Given the description of an element on the screen output the (x, y) to click on. 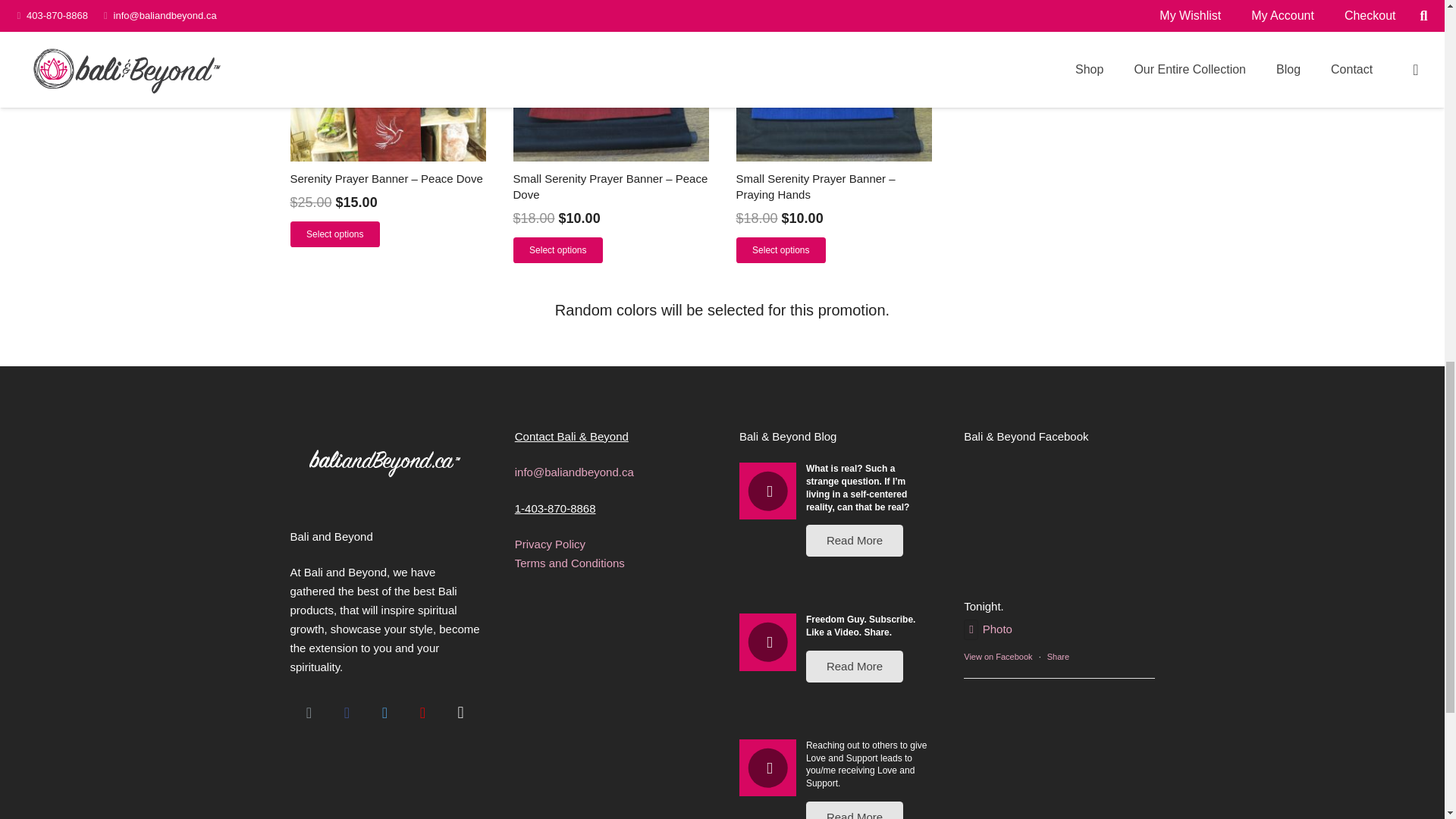
Privacy Policy (550, 543)
Select options (557, 249)
View on Facebook (997, 655)
Select options (334, 234)
Select options (780, 249)
Likebox Iframe (1058, 534)
Home (384, 488)
Terms and Conditions (569, 562)
Share (1057, 655)
